Given the description of an element on the screen output the (x, y) to click on. 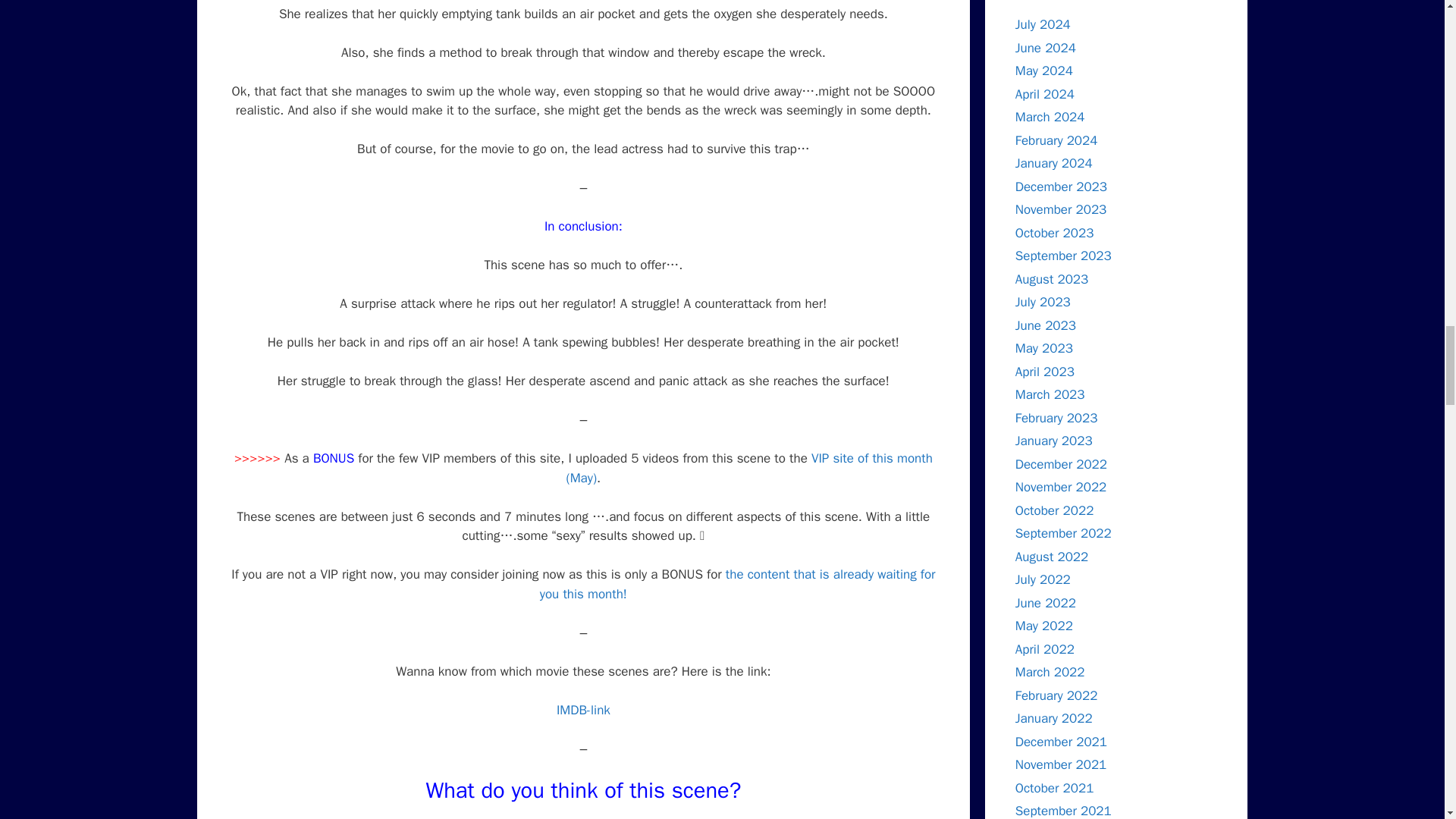
IMDB-link (583, 709)
the content that is already waiting for you this month! (738, 583)
